Given the description of an element on the screen output the (x, y) to click on. 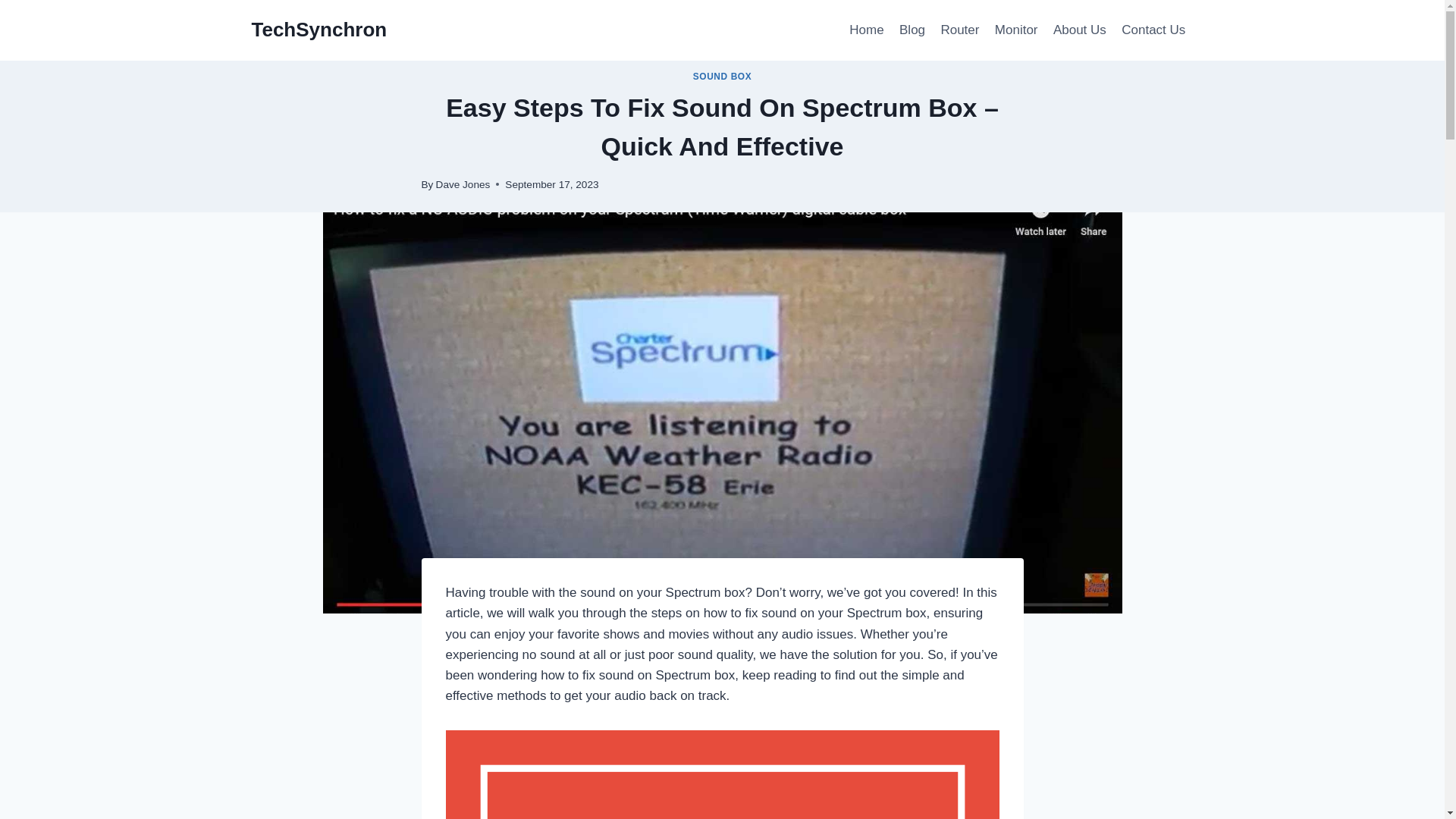
Contact Us (1152, 30)
Monitor (1016, 30)
SOUND BOX (722, 76)
TechSynchron (319, 29)
Blog (912, 30)
Home (866, 30)
Router (960, 30)
About Us (1079, 30)
Dave Jones (462, 184)
